Given the description of an element on the screen output the (x, y) to click on. 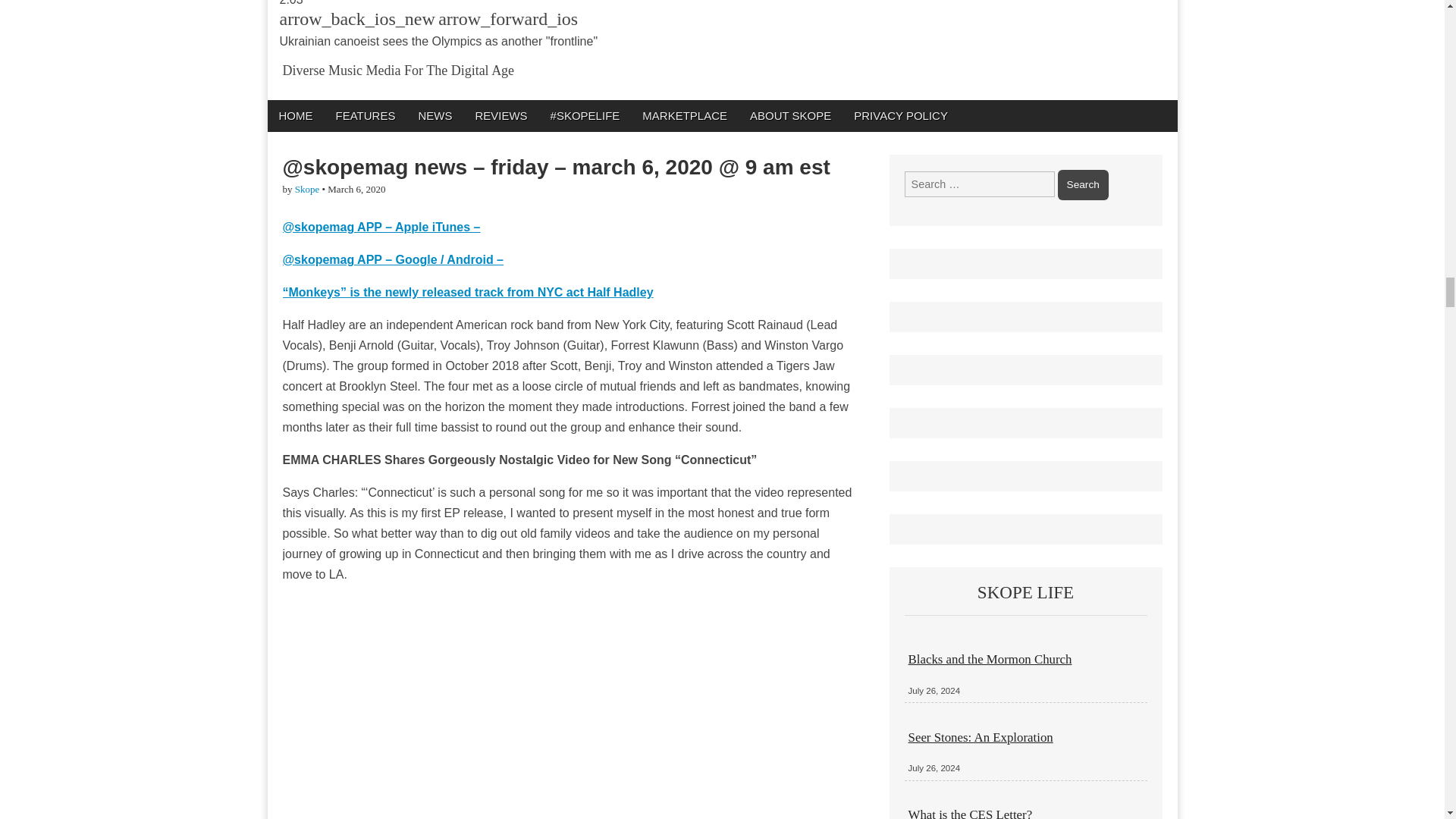
What is the CES Letter? (970, 813)
HOME (294, 115)
MARKETPLACE (684, 115)
PRIVACY POLICY (901, 115)
ABOUT SKOPE (790, 115)
Search (1083, 184)
FEATURES (365, 115)
REVIEWS (500, 115)
Search (1083, 184)
Search (1083, 184)
Skope (307, 188)
Seer Stones: An Exploration (980, 737)
Posts by Skope (307, 188)
